Given the description of an element on the screen output the (x, y) to click on. 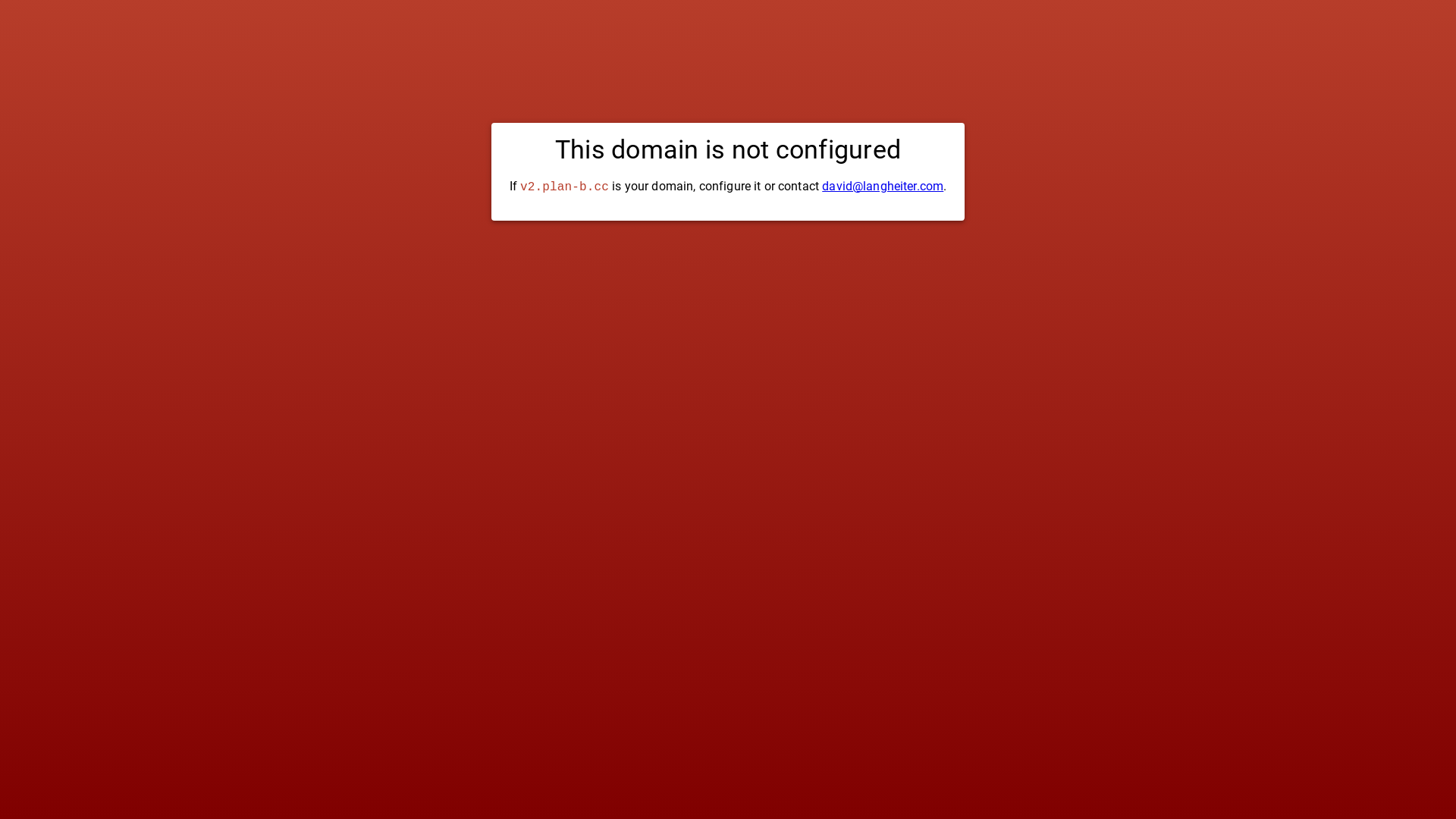
david@langheiter.com Element type: text (882, 185)
